Given the description of an element on the screen output the (x, y) to click on. 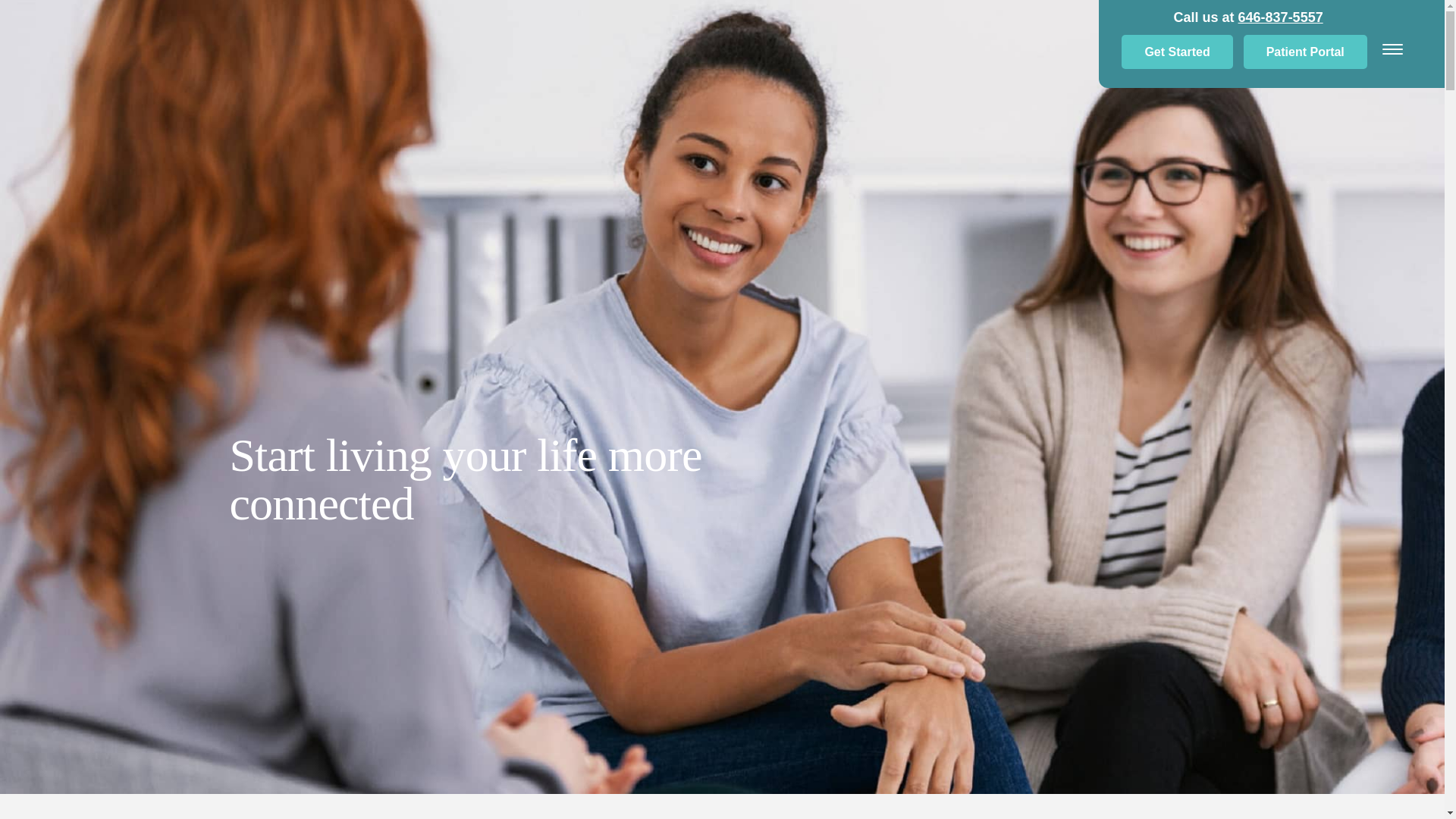
Call us at 646-837-5557 (1247, 17)
Group (185, 64)
Patient Portal (1305, 51)
Get Started (1176, 51)
